Given the description of an element on the screen output the (x, y) to click on. 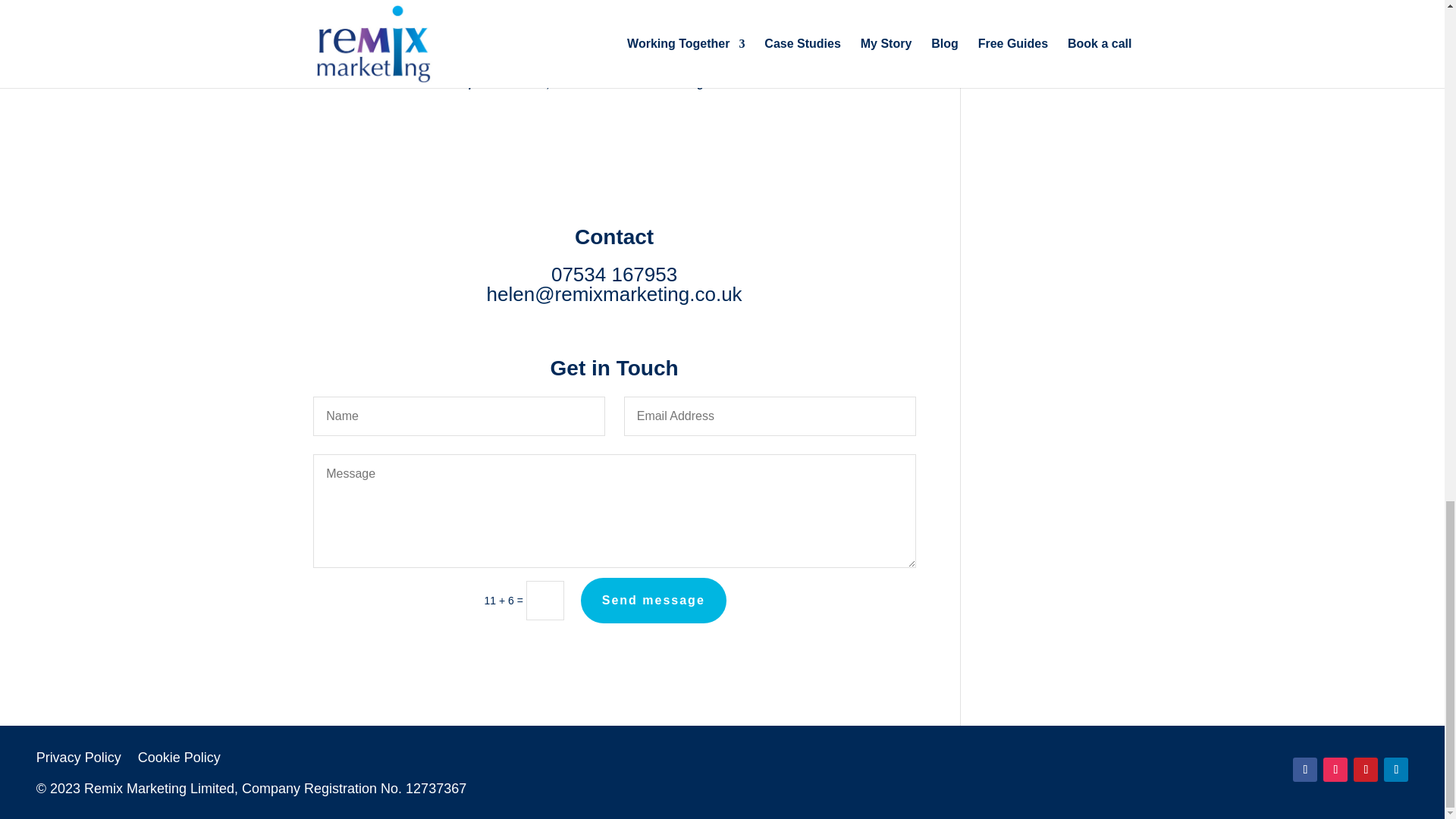
Follow on LinkedIn (1395, 769)
strategy and full management (768, 54)
Follow on Instagram (1335, 769)
1-2-1 training (600, 54)
Follow on Facebook (1304, 769)
Send message (653, 601)
Privacy Policy (78, 760)
Follow on Pinterest (1365, 769)
Cookie Policy (179, 760)
LinkedIn (420, 82)
